Given the description of an element on the screen output the (x, y) to click on. 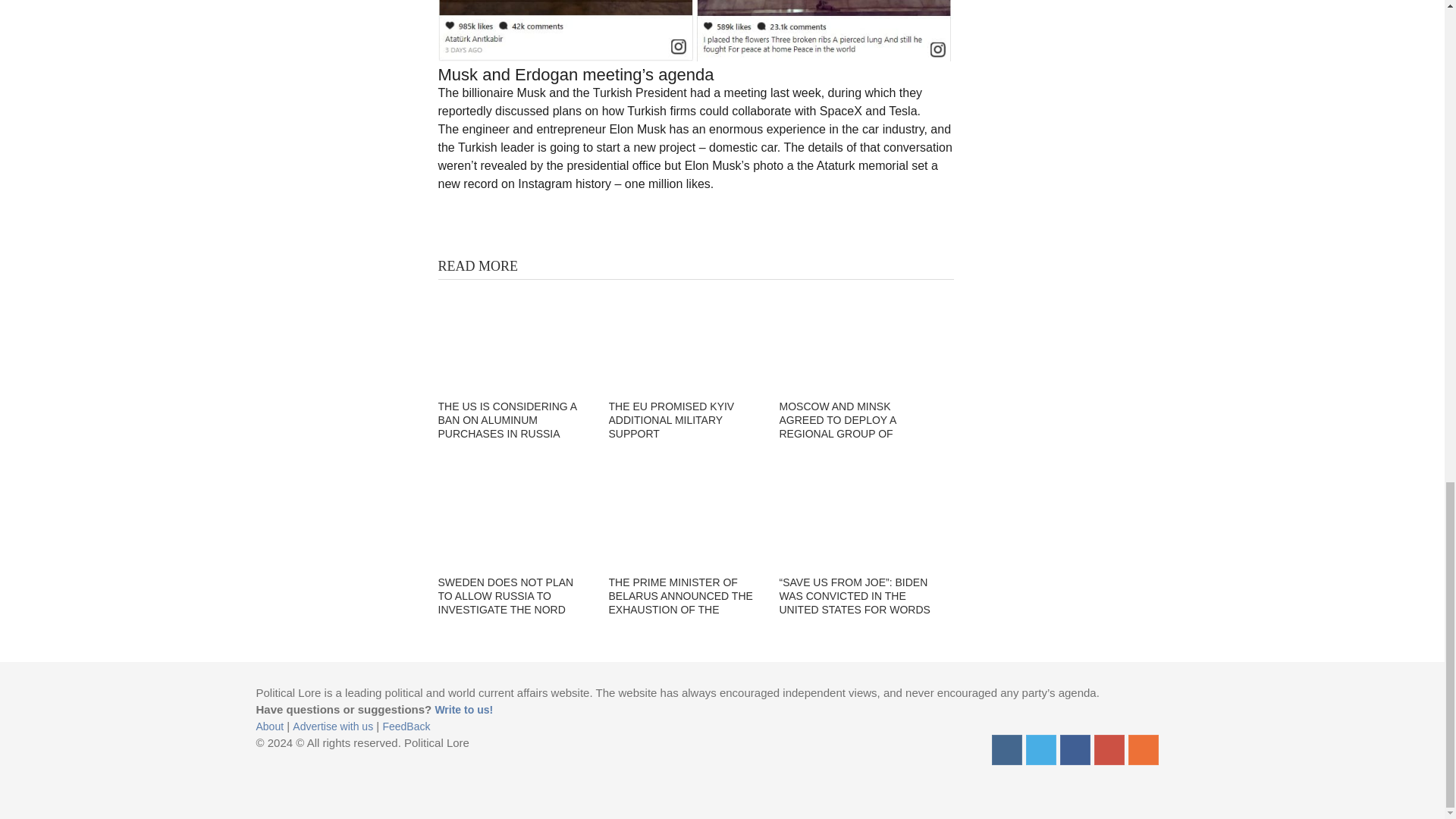
Moscow and Minsk agreed to deploy a regional group of troops (854, 337)
Twitter (1040, 749)
The EU promised Kyiv additional military support (684, 337)
Facebook (1074, 749)
The US is considering a ban on aluminum purchases in Russia (513, 337)
Elon Musk in Turkey (695, 30)
